Given the description of an element on the screen output the (x, y) to click on. 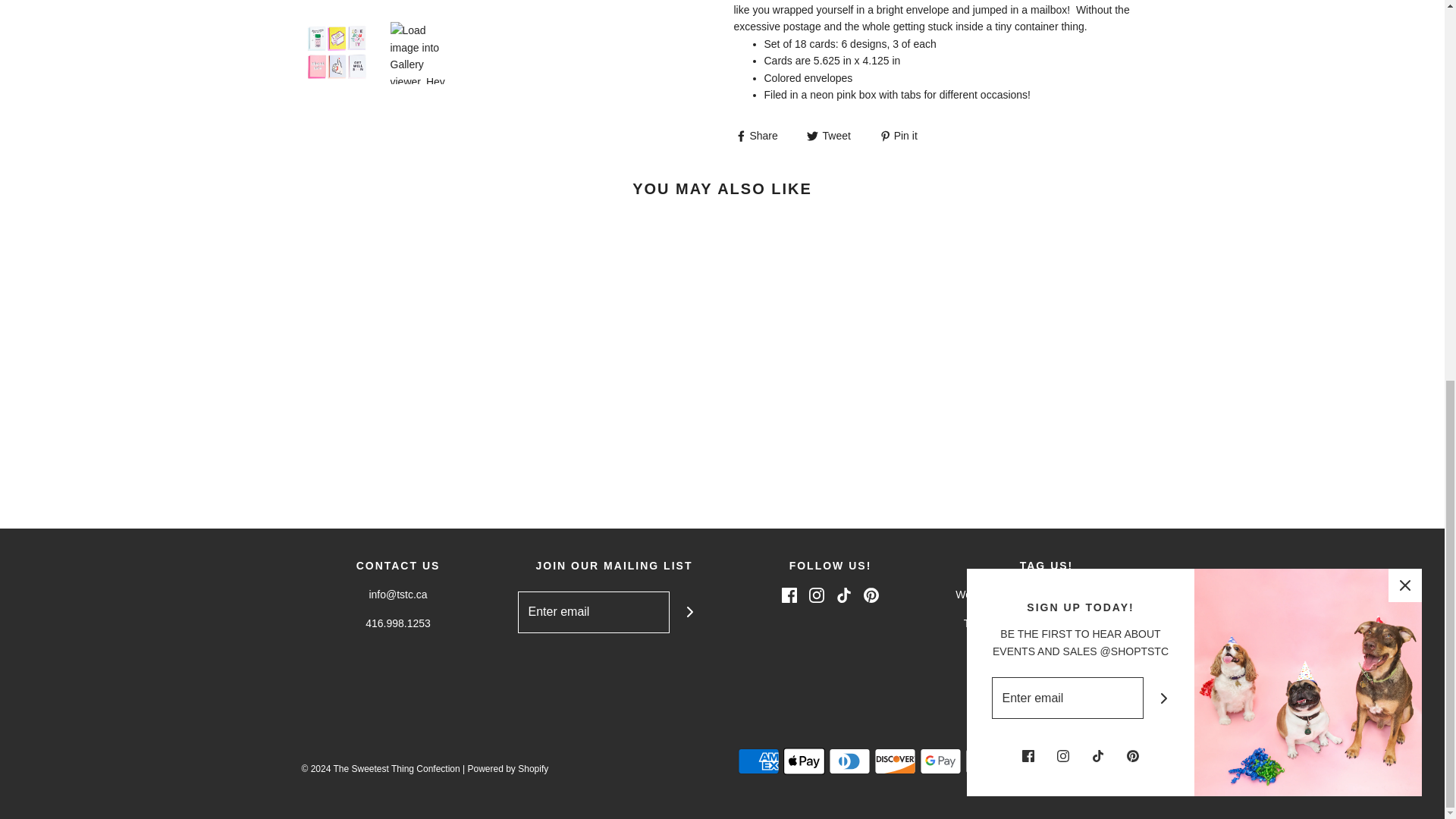
TikTok icon (843, 595)
Pinterest icon (871, 595)
Instagram icon (816, 595)
Facebook icon (788, 595)
American Express (757, 761)
